Given the description of an element on the screen output the (x, y) to click on. 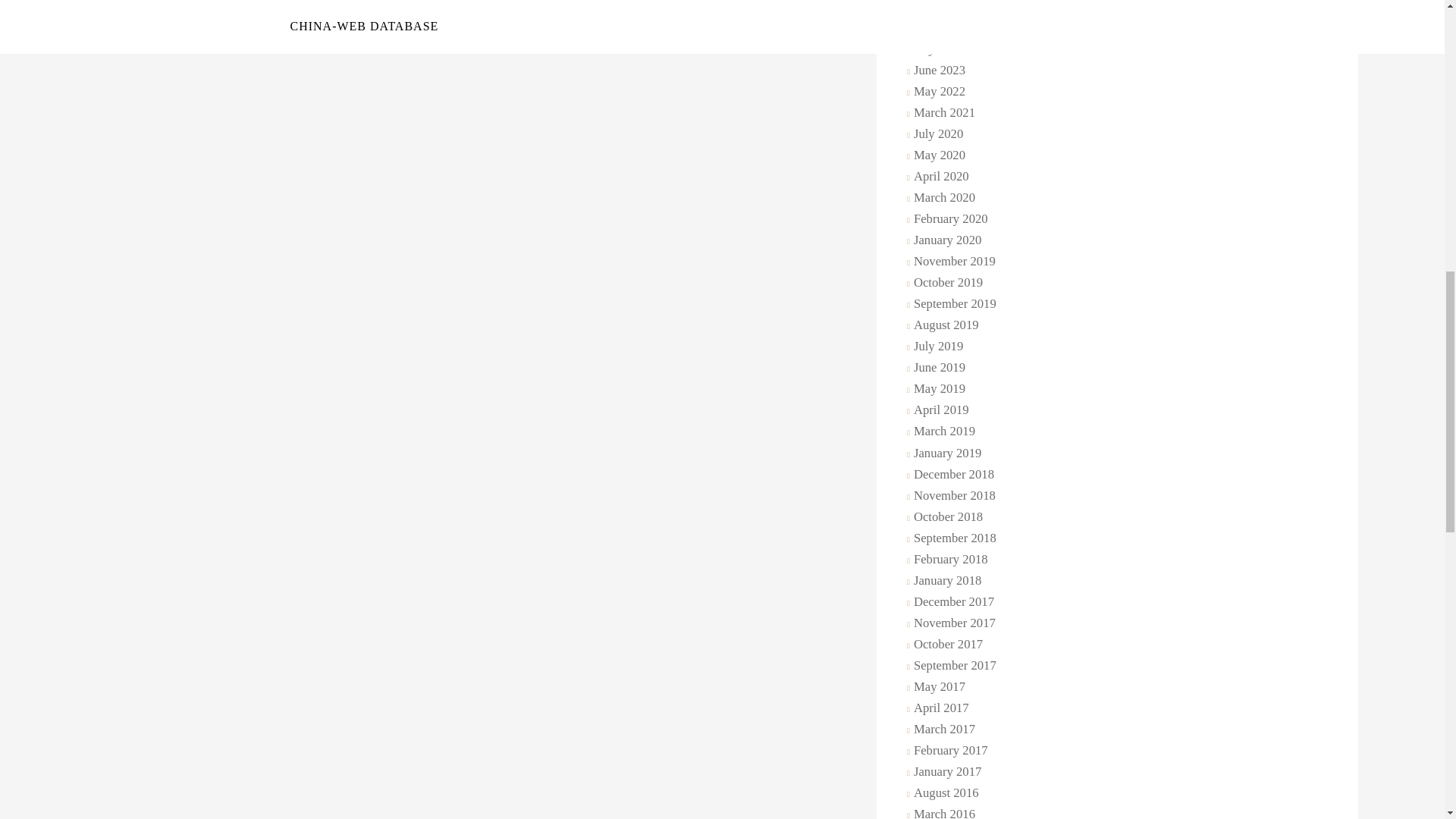
May 2019 (937, 389)
February 2024 (949, 28)
August 2019 (944, 325)
October 2019 (946, 283)
February 2020 (949, 219)
April 2019 (939, 410)
July 2020 (936, 134)
April 2020 (939, 176)
March 2024 (942, 7)
July 2019 (936, 347)
March 2021 (942, 113)
May 2020 (937, 156)
June 2023 (937, 71)
March 2020 (942, 198)
May 2022 (937, 92)
